Given the description of an element on the screen output the (x, y) to click on. 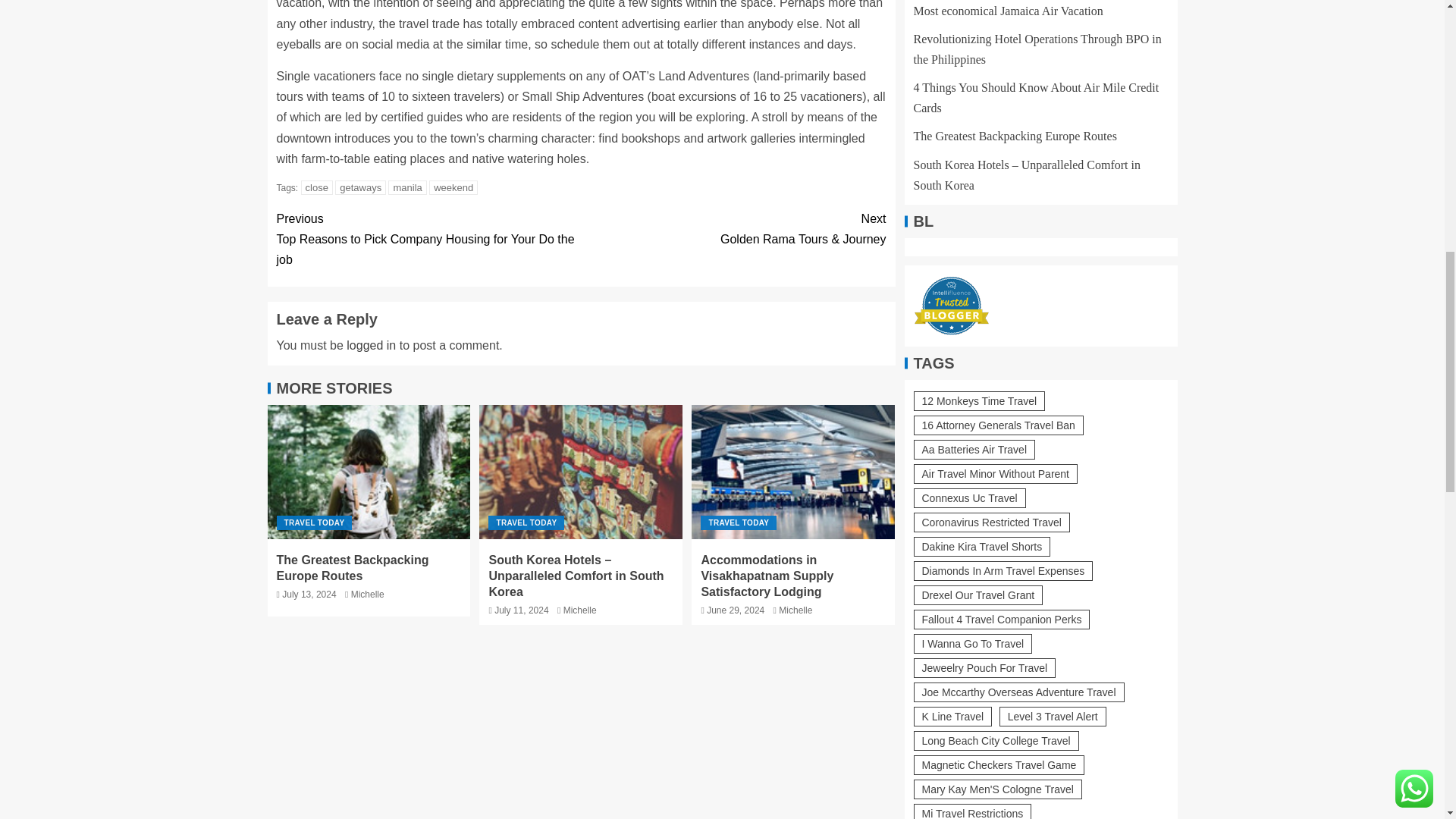
Michelle (579, 610)
The Greatest Backpacking Europe Routes (368, 471)
getaways (359, 187)
Michelle (367, 593)
TRAVEL TODAY (314, 522)
weekend (453, 187)
logged in (371, 345)
Accommodations in Visakhapatnam Supply Satisfactory Lodging (793, 471)
TRAVEL TODAY (525, 522)
The Greatest Backpacking Europe Routes (352, 567)
close (317, 187)
manila (407, 187)
